Given the description of an element on the screen output the (x, y) to click on. 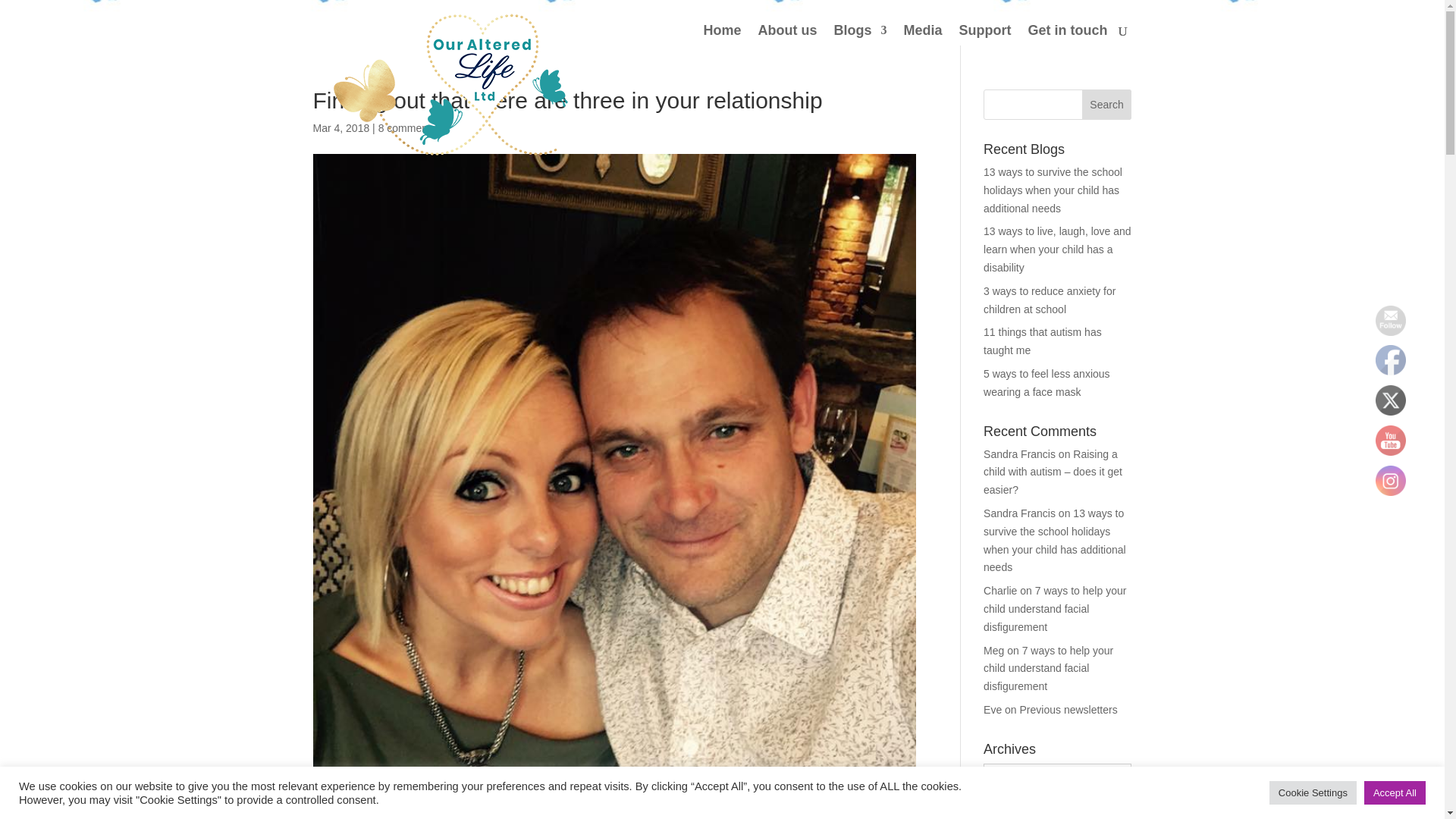
Follow by Email (1390, 319)
Facebook (1390, 359)
Home (722, 35)
About us (786, 35)
Blogs (859, 35)
Media (922, 35)
Support (984, 35)
8 comments (406, 128)
Twitter (1390, 399)
Get in touch (1067, 35)
